Given the description of an element on the screen output the (x, y) to click on. 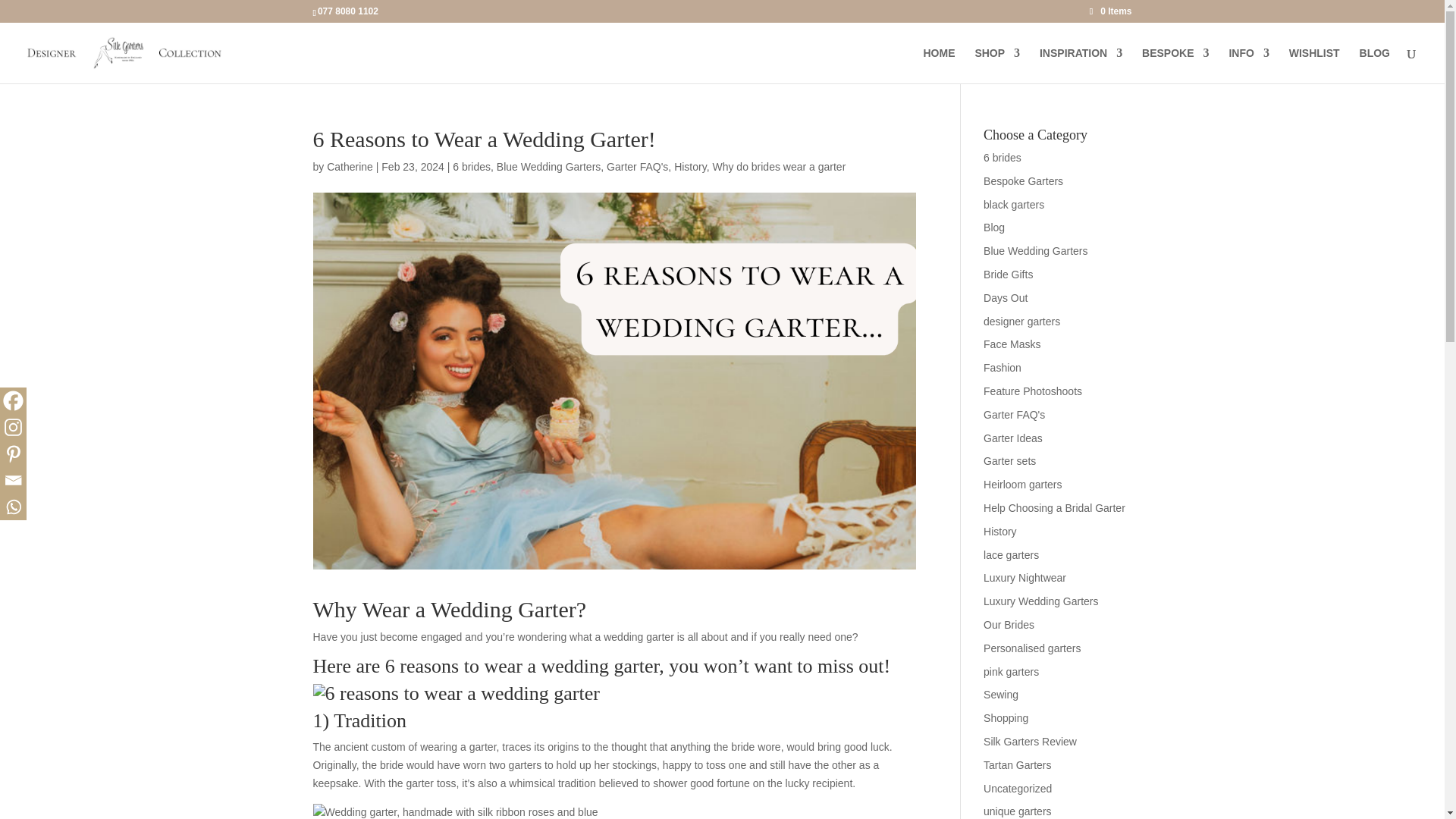
HOME (939, 65)
Posts by Catherine (349, 166)
Facebook (13, 400)
0 Items (1110, 10)
INSPIRATION (1080, 65)
6 brides (471, 166)
WISHLIST (1313, 65)
Garter FAQ's (637, 166)
Whatsapp (13, 506)
BESPOKE (1174, 65)
